Given the description of an element on the screen output the (x, y) to click on. 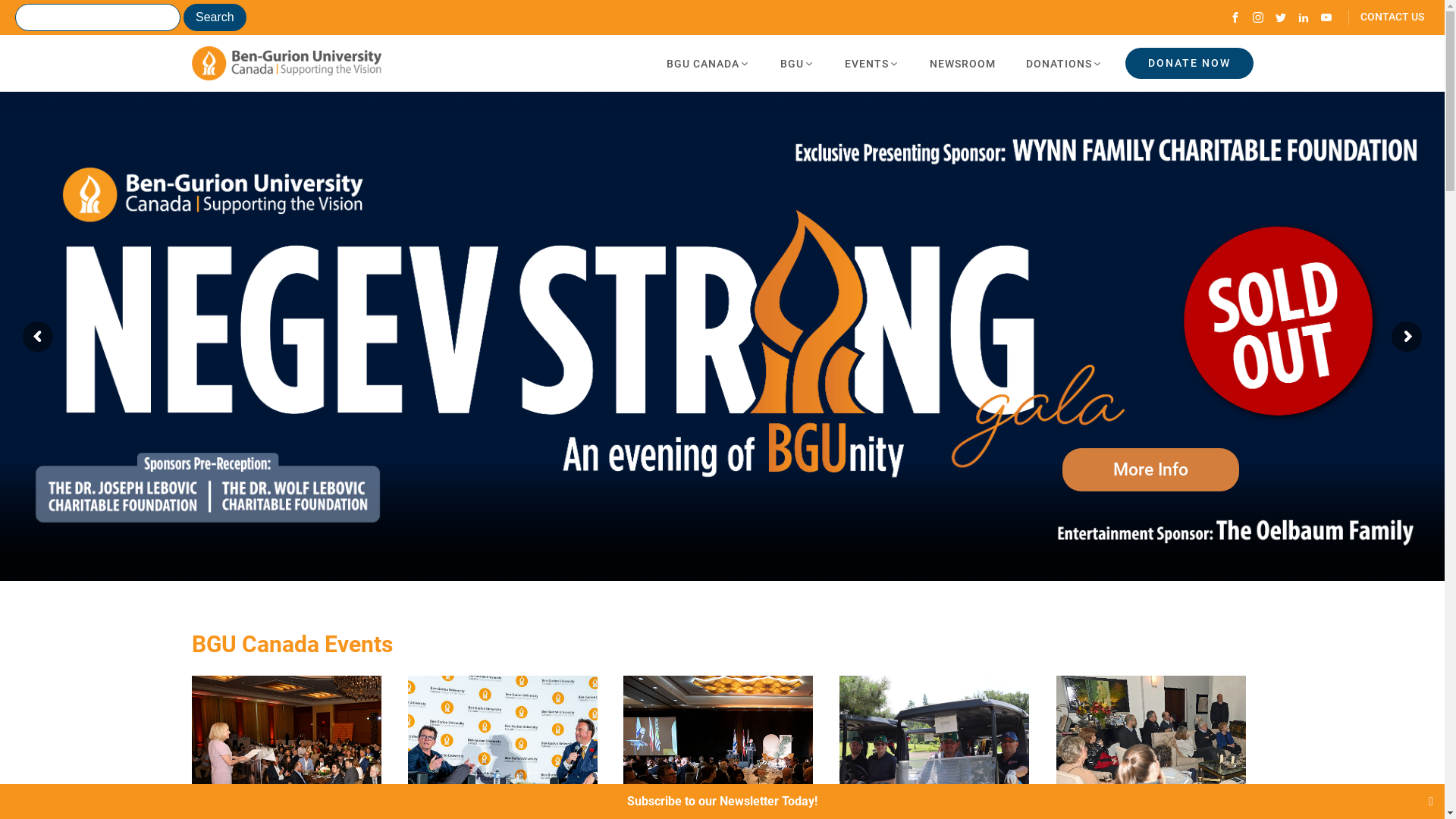
NEWSROOM Element type: text (962, 63)
DONATIONS Element type: text (1063, 63)
Subscribe to our Newsletter Today! Element type: text (722, 800)
DONATE NOW Element type: text (1189, 62)
BGU CANADA Element type: text (707, 63)
BGU Element type: text (796, 63)
EVENTS Element type: text (871, 63)
More Info Element type: text (1150, 469)
Search Element type: text (214, 17)
CONTACT US Element type: text (1386, 17)
